Given the description of an element on the screen output the (x, y) to click on. 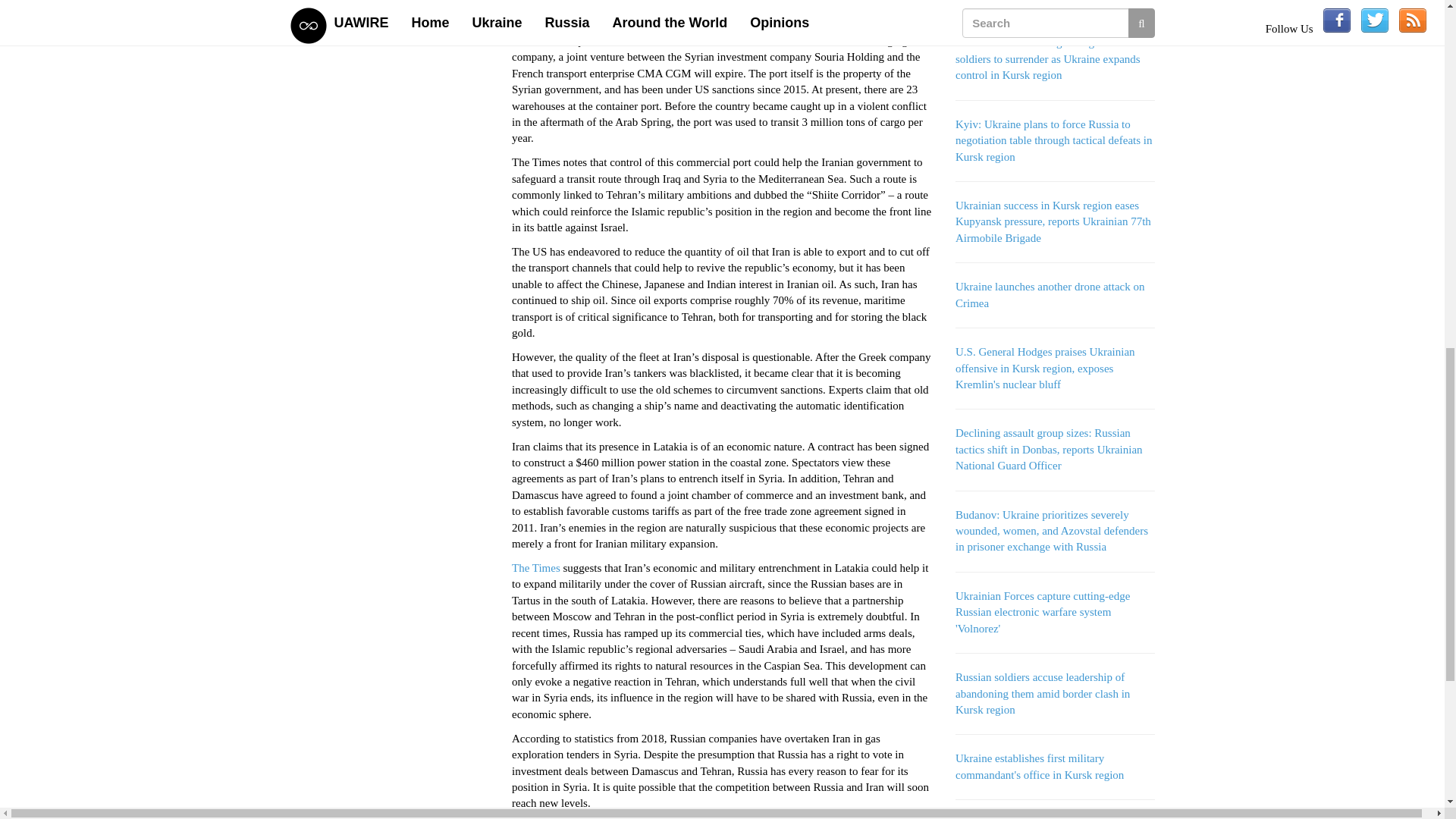
The Times (536, 567)
Ukraine launches another drone attack on Crimea (1049, 294)
